Given the description of an element on the screen output the (x, y) to click on. 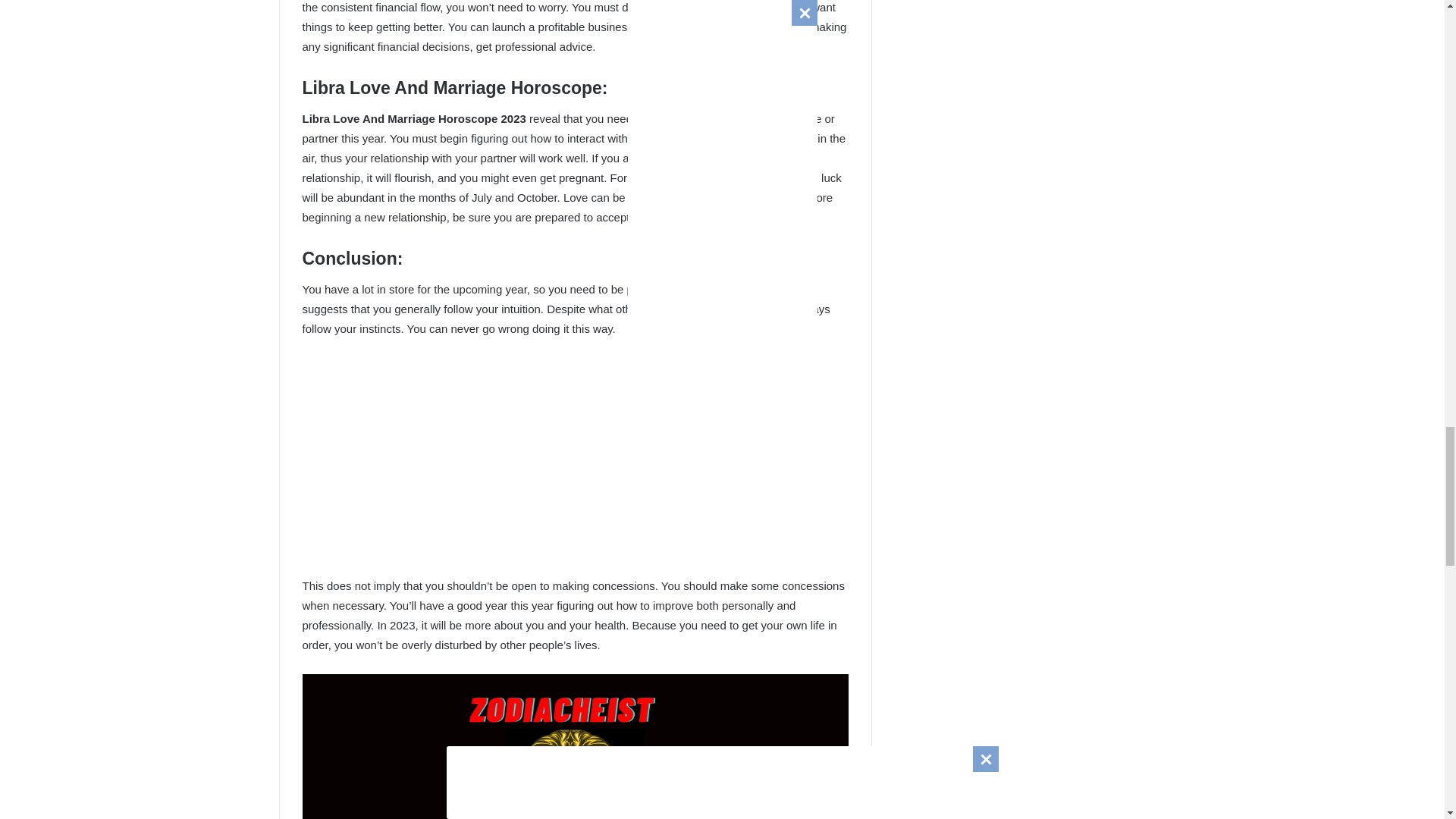
Advertisement (574, 463)
